Given the description of an element on the screen output the (x, y) to click on. 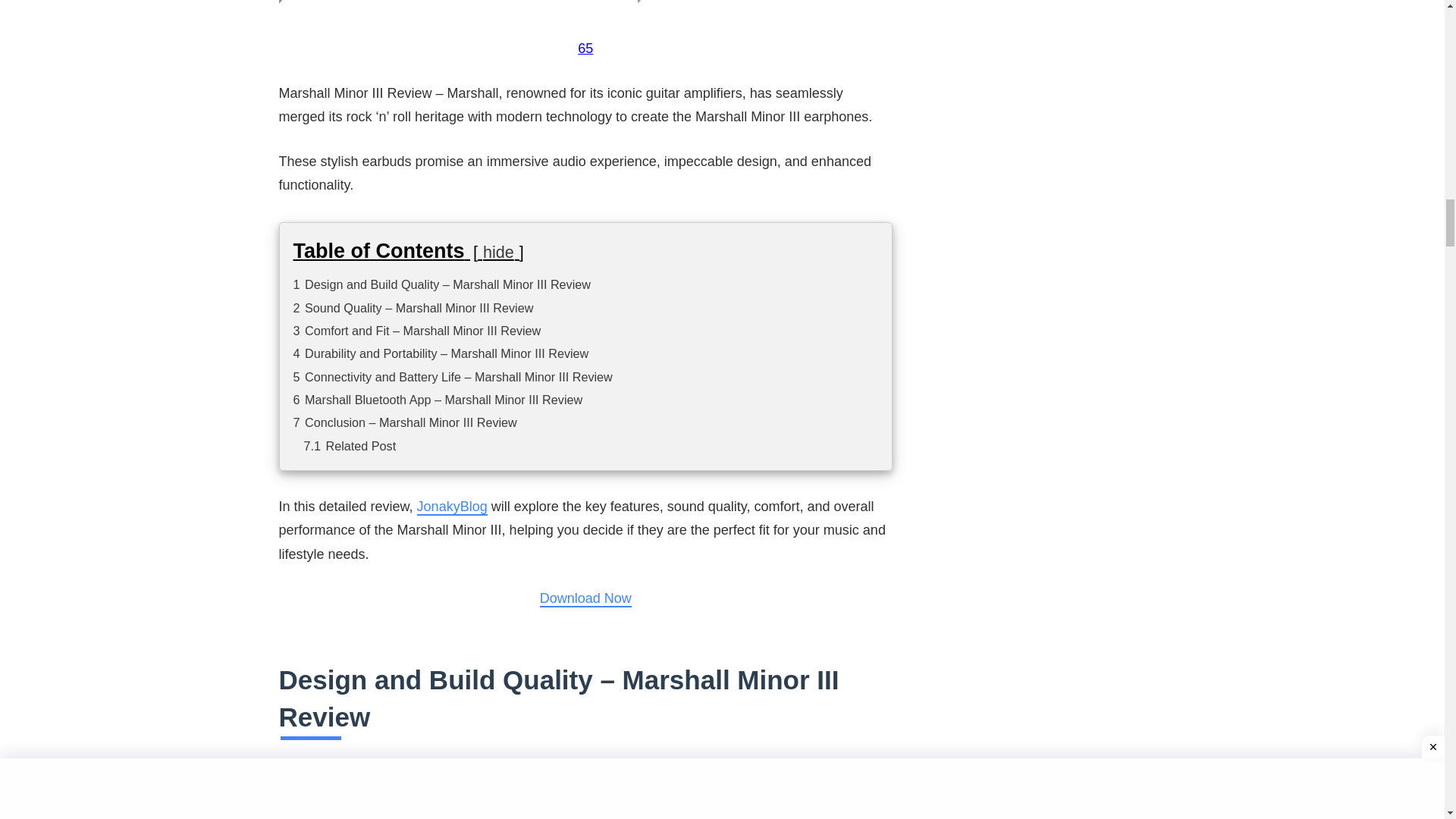
hide (498, 251)
